Given the description of an element on the screen output the (x, y) to click on. 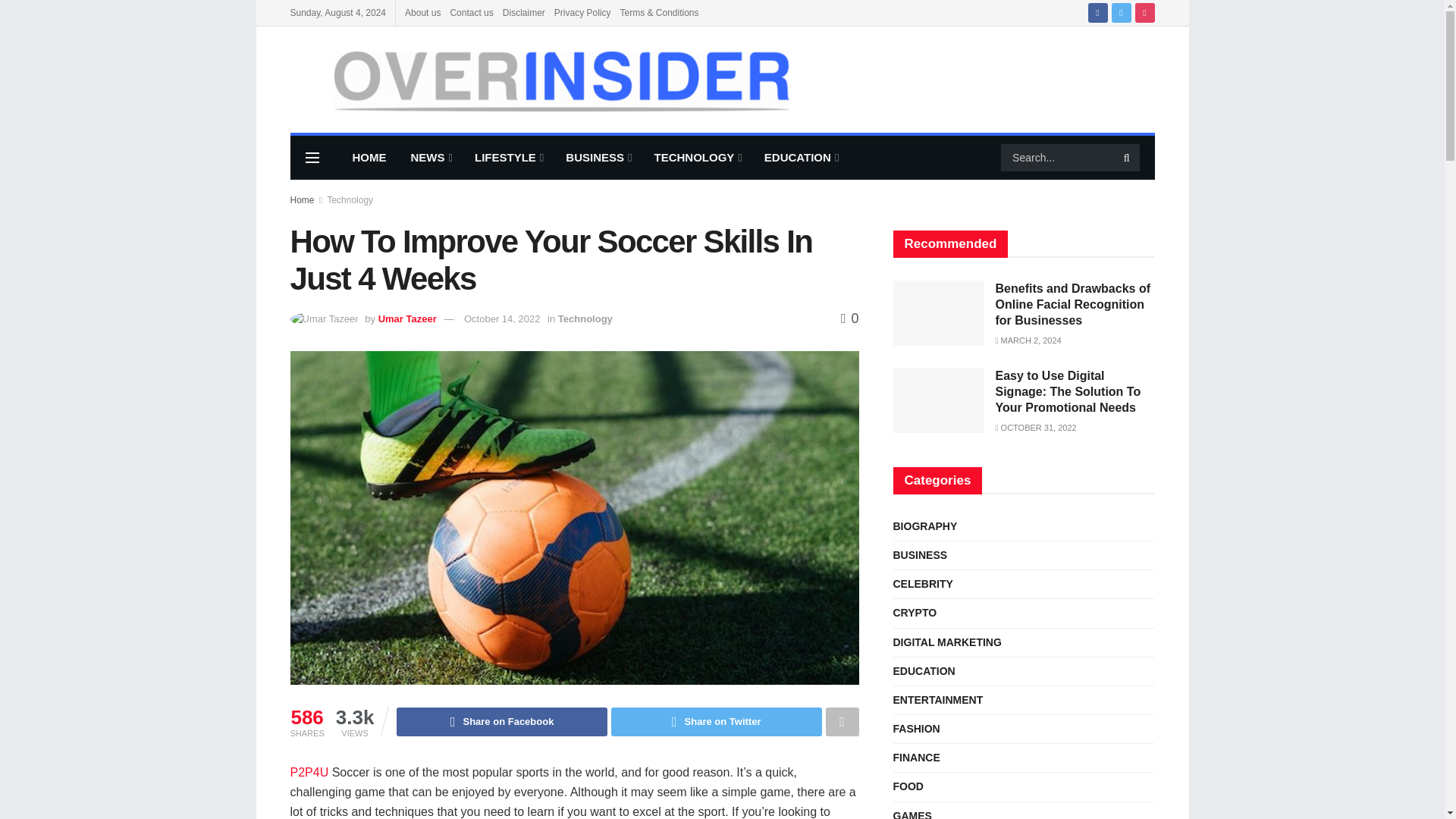
About us (422, 12)
Privacy Policy (582, 12)
HOME (368, 157)
LIFESTYLE (508, 157)
NEWS (430, 157)
Disclaimer (523, 12)
